Given the description of an element on the screen output the (x, y) to click on. 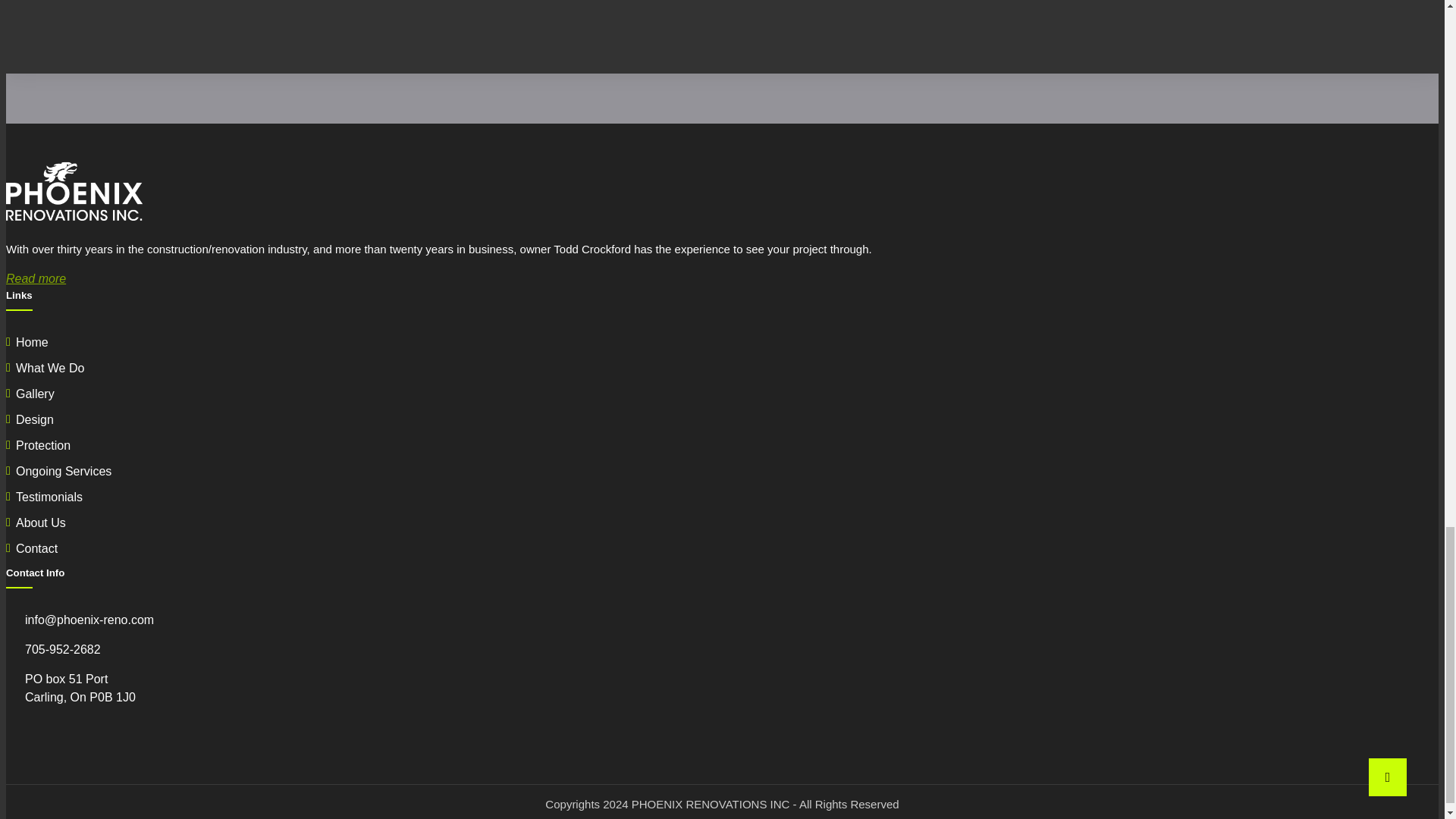
About Us (40, 522)
Read more (35, 278)
Contact (37, 548)
Gallery (35, 393)
Ongoing Services (64, 471)
Design (34, 419)
705-952-2682 (62, 649)
What We Do (50, 367)
Protection (42, 445)
Testimonials (49, 496)
Home (32, 341)
